Given the description of an element on the screen output the (x, y) to click on. 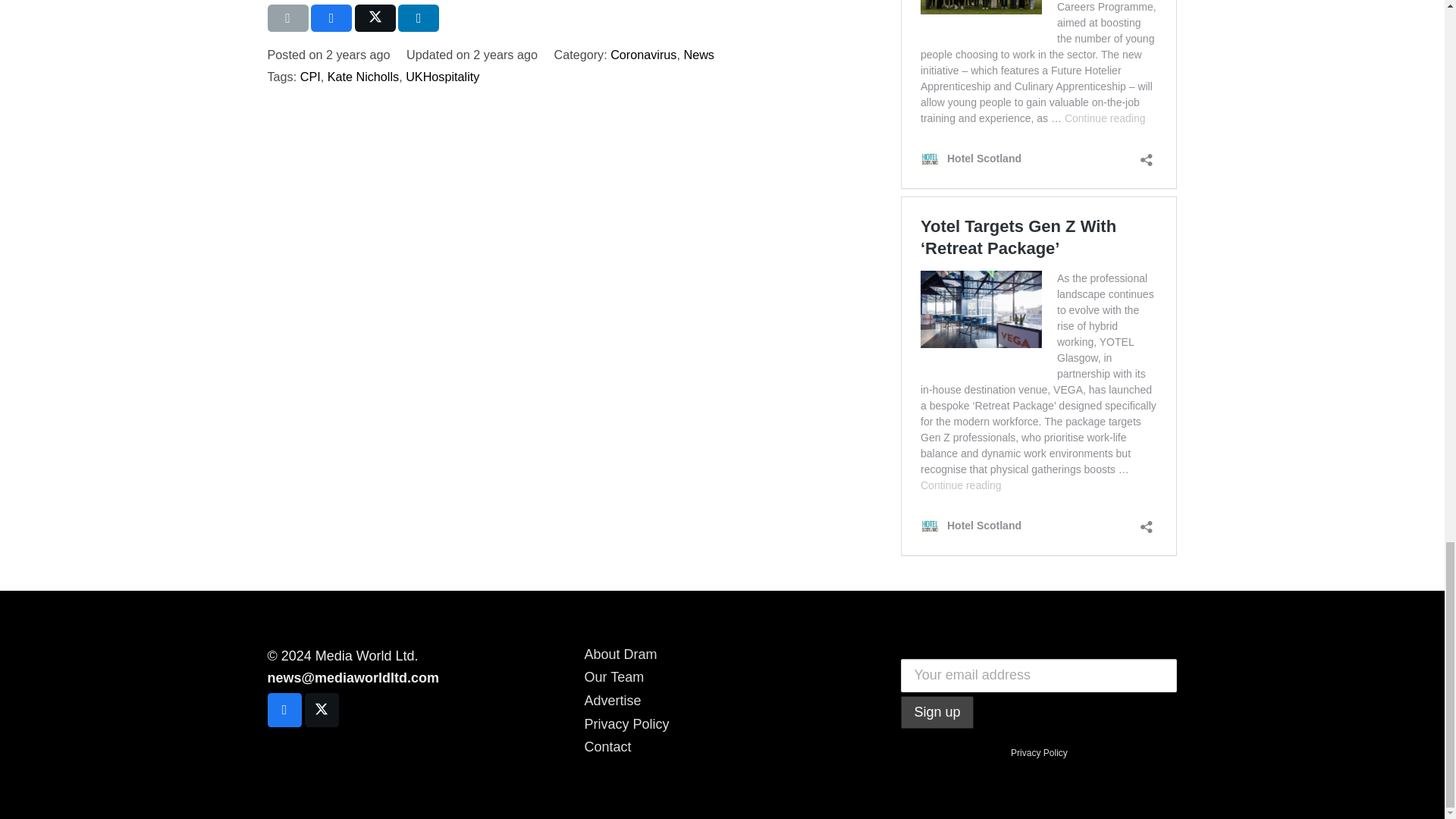
Twitter (321, 709)
Facebook (283, 709)
UKHospitality (442, 76)
Share this (331, 17)
News (697, 54)
Sign up (936, 711)
Coronavirus (643, 54)
CPI (309, 76)
Share this (418, 17)
Tweet this (375, 17)
Email this (286, 17)
Kate Nicholls (362, 76)
